Given the description of an element on the screen output the (x, y) to click on. 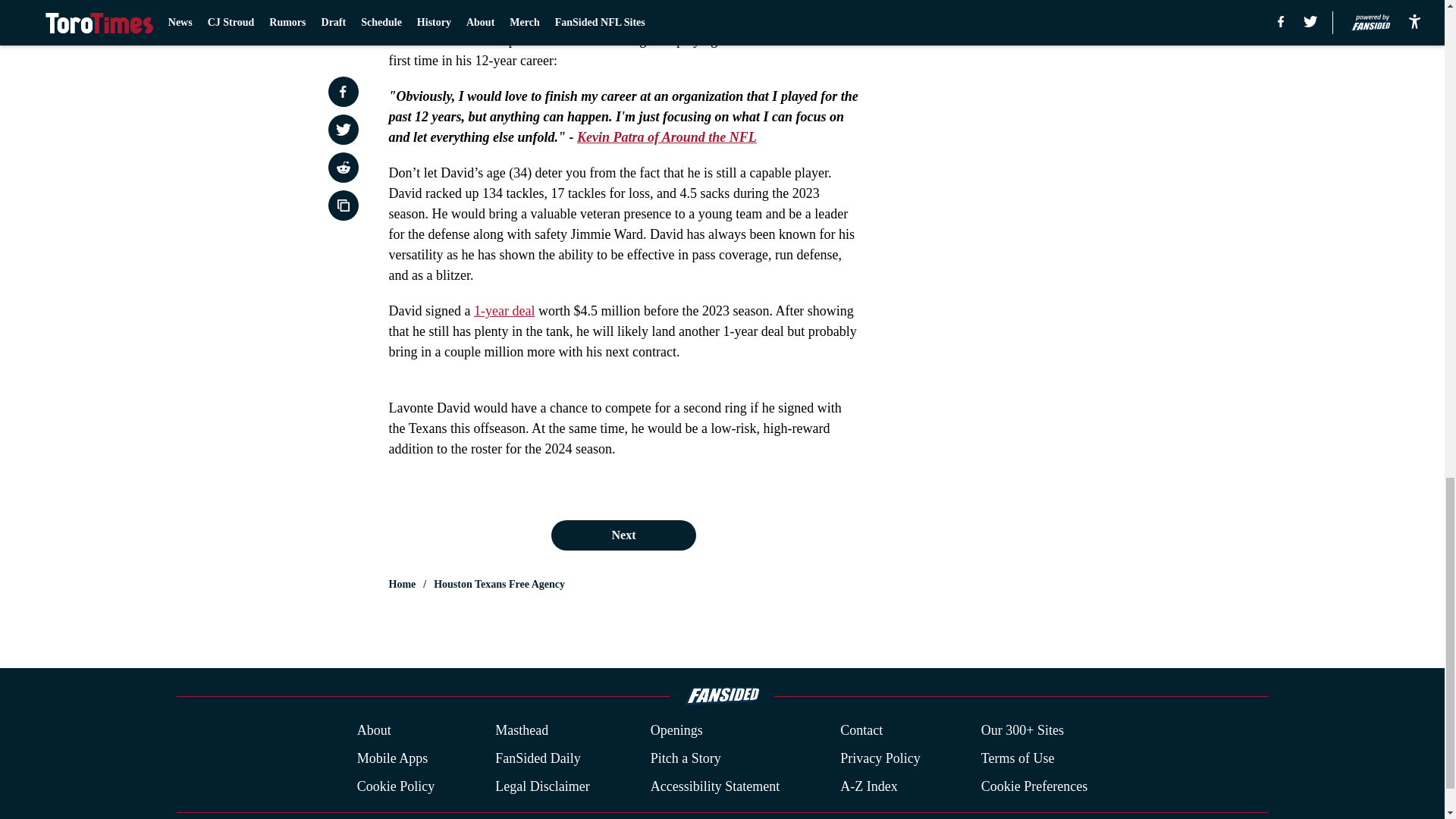
Next (622, 535)
Mobile Apps (392, 758)
About (373, 730)
1-year deal (504, 310)
Contact (861, 730)
Houston Texans Free Agency (498, 584)
Privacy Policy (880, 758)
Home (401, 584)
Pitch a Story (685, 758)
Masthead (521, 730)
FanSided Daily (537, 758)
Kevin Patra of Around the NFL (666, 136)
Terms of Use (1017, 758)
Openings (676, 730)
